Given the description of an element on the screen output the (x, y) to click on. 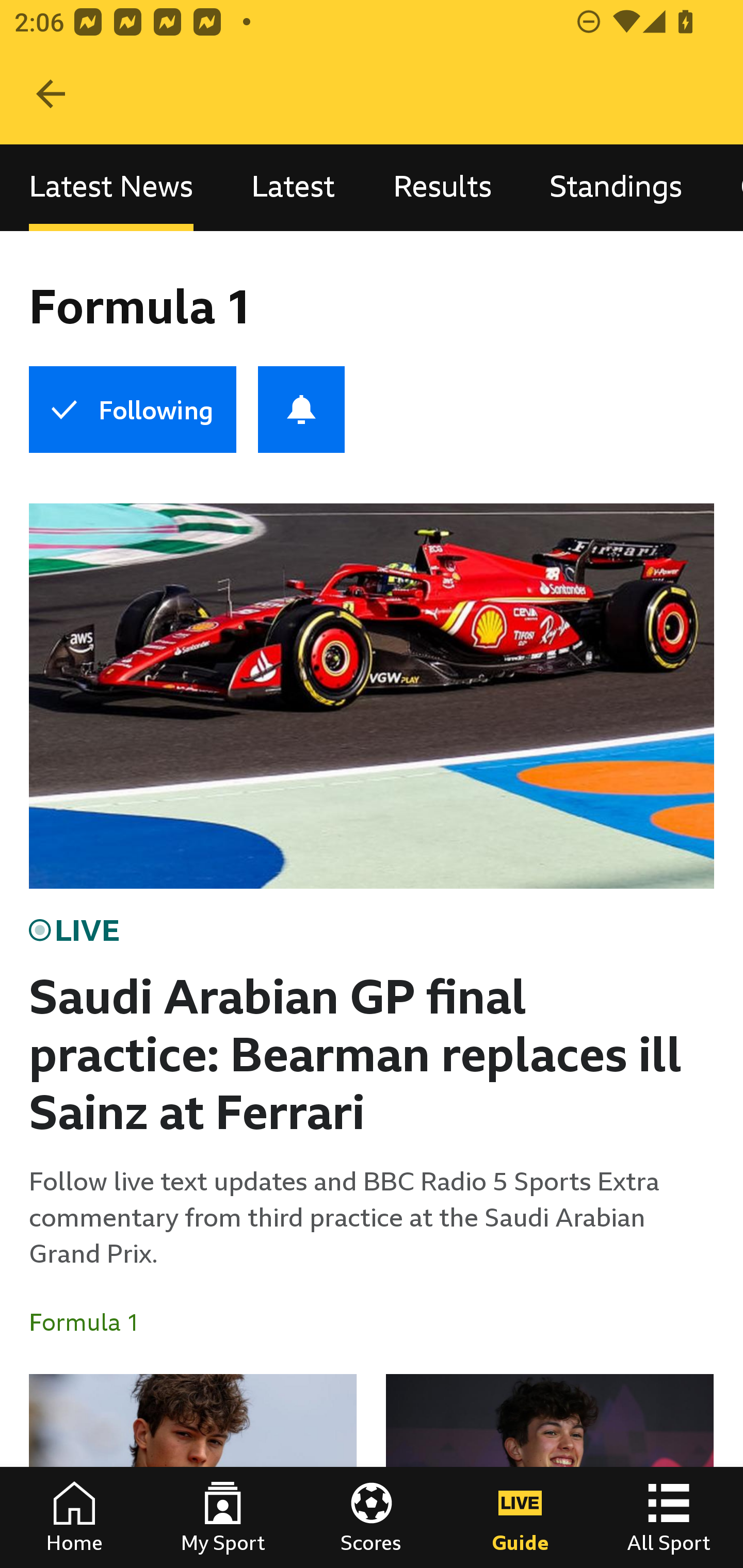
Navigate up (50, 93)
Latest News, selected Latest News (111, 187)
Latest (293, 187)
Results (442, 187)
Standings (615, 187)
Following Formula 1 Following (132, 409)
Push notifications for Formula 1 (300, 409)
Home (74, 1517)
My Sport (222, 1517)
Scores (371, 1517)
All Sport (668, 1517)
